Given the description of an element on the screen output the (x, y) to click on. 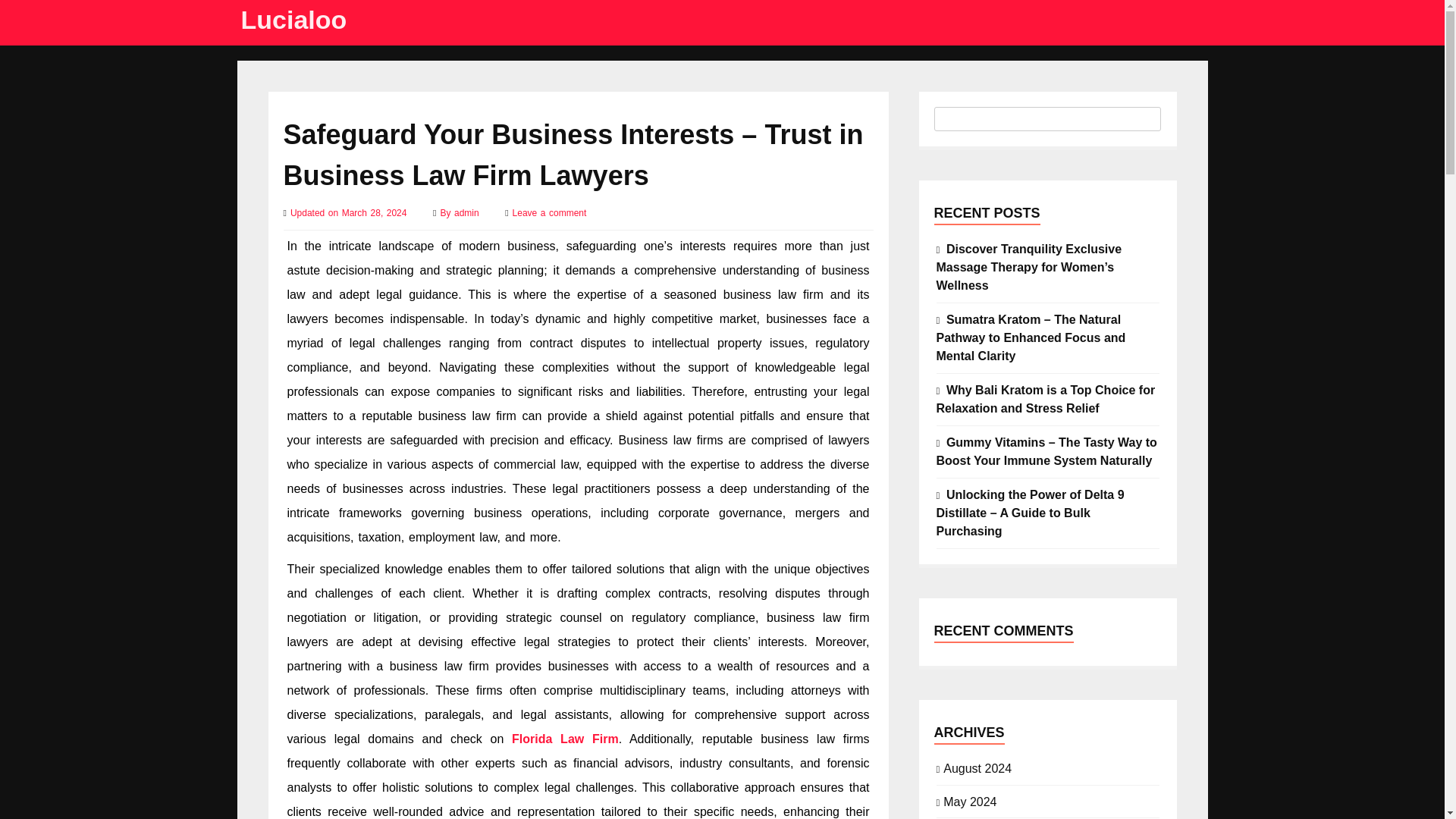
August 2024 (977, 767)
admin (467, 213)
Lucialoo (294, 19)
Leave a comment (549, 213)
Florida Law Firm (565, 738)
May 2024 (969, 800)
